Given the description of an element on the screen output the (x, y) to click on. 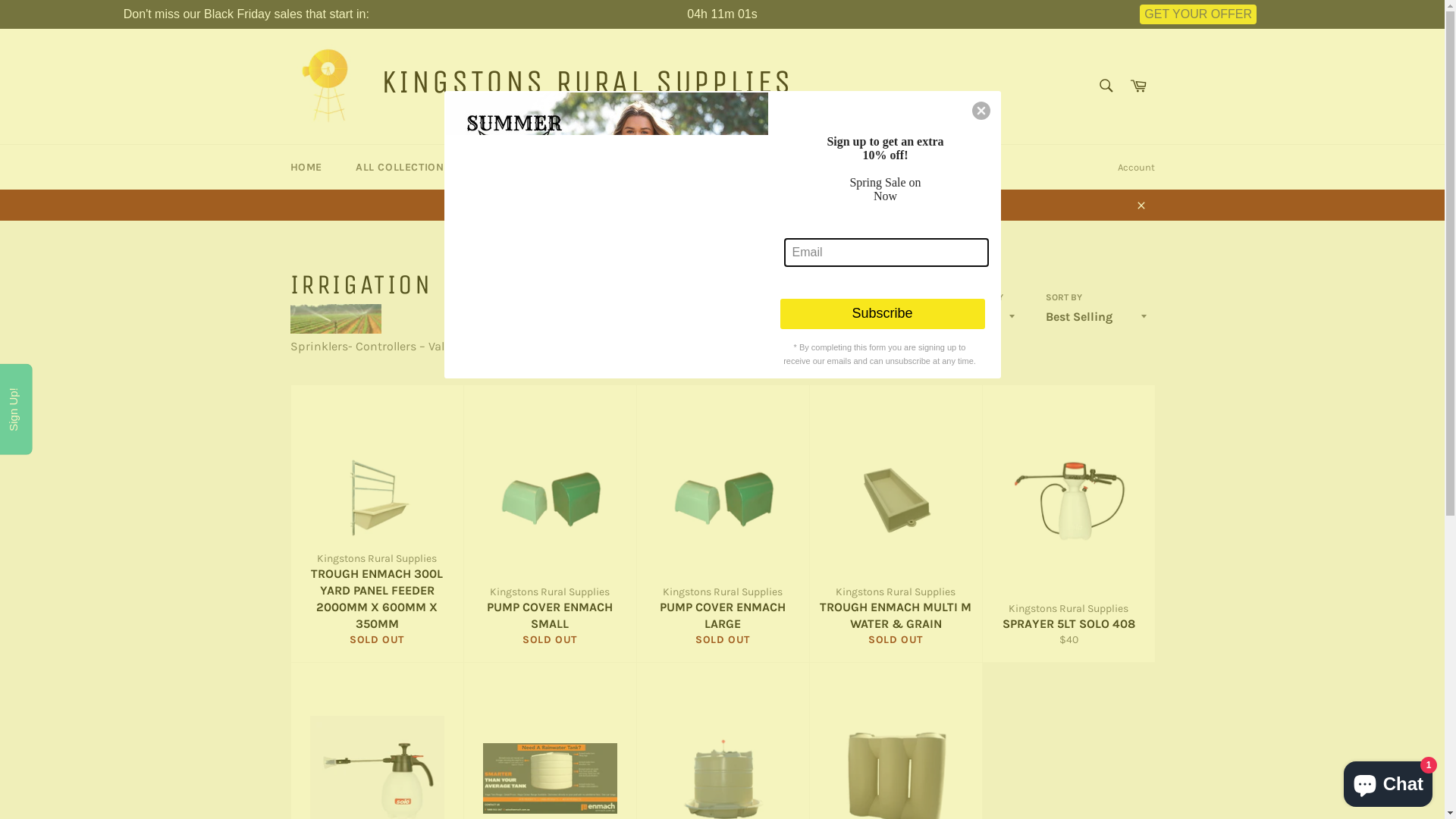
GET YOUR OFFER Element type: text (1197, 14)
Kingstons Rural Supplies
PUMP COVER ENMACH LARGE
SOLD OUT Element type: text (721, 523)
TWISTED X SALE - UP TO $50 OFF Element type: text (721, 204)
HOME Element type: text (305, 166)
Search Element type: text (1105, 85)
Cart Element type: text (1138, 86)
Account Element type: text (1136, 167)
CONTACT US Element type: text (867, 166)
BOOTS & CLOTHING Element type: text (549, 166)
KINGSTONS RURAL SUPPLIES Element type: text (586, 81)
Close Element type: text (1139, 204)
ALL COLLECTIONS Element type: text (408, 166)
Shopify online store chat Element type: hover (1388, 780)
SADDLERY Element type: text (664, 166)
LATEST NEWS Element type: text (763, 166)
Kingstons Rural Supplies
PUMP COVER ENMACH SMALL
SOLD OUT Element type: text (548, 523)
Close Element type: hover (981, 110)
